Given the description of an element on the screen output the (x, y) to click on. 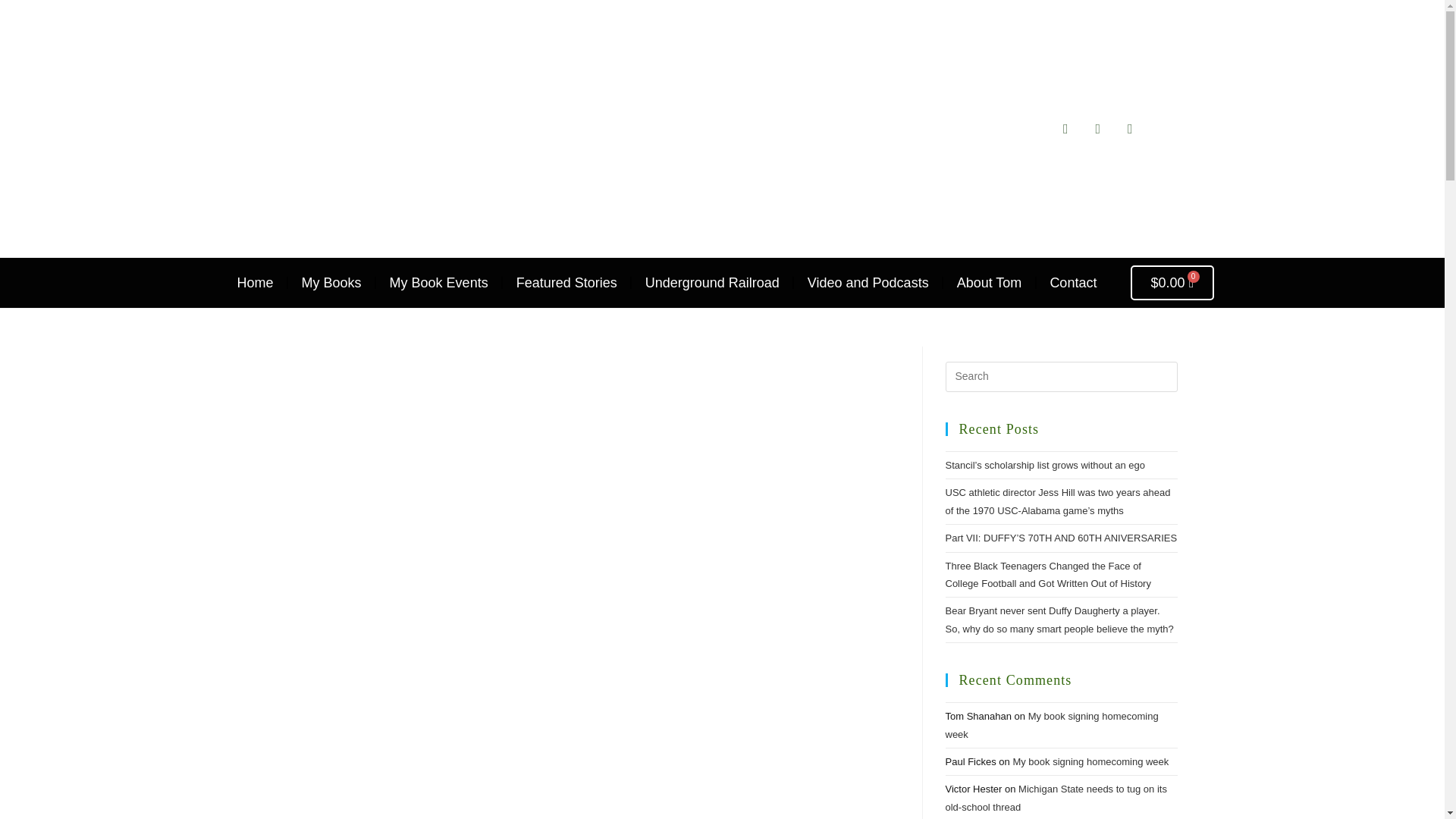
My Book Events (438, 282)
Video and Podcasts (868, 282)
My Books (331, 282)
Contact (1072, 282)
Home (255, 282)
About Tom (989, 282)
Featured Stories (566, 282)
Underground Railroad (711, 282)
